Given the description of an element on the screen output the (x, y) to click on. 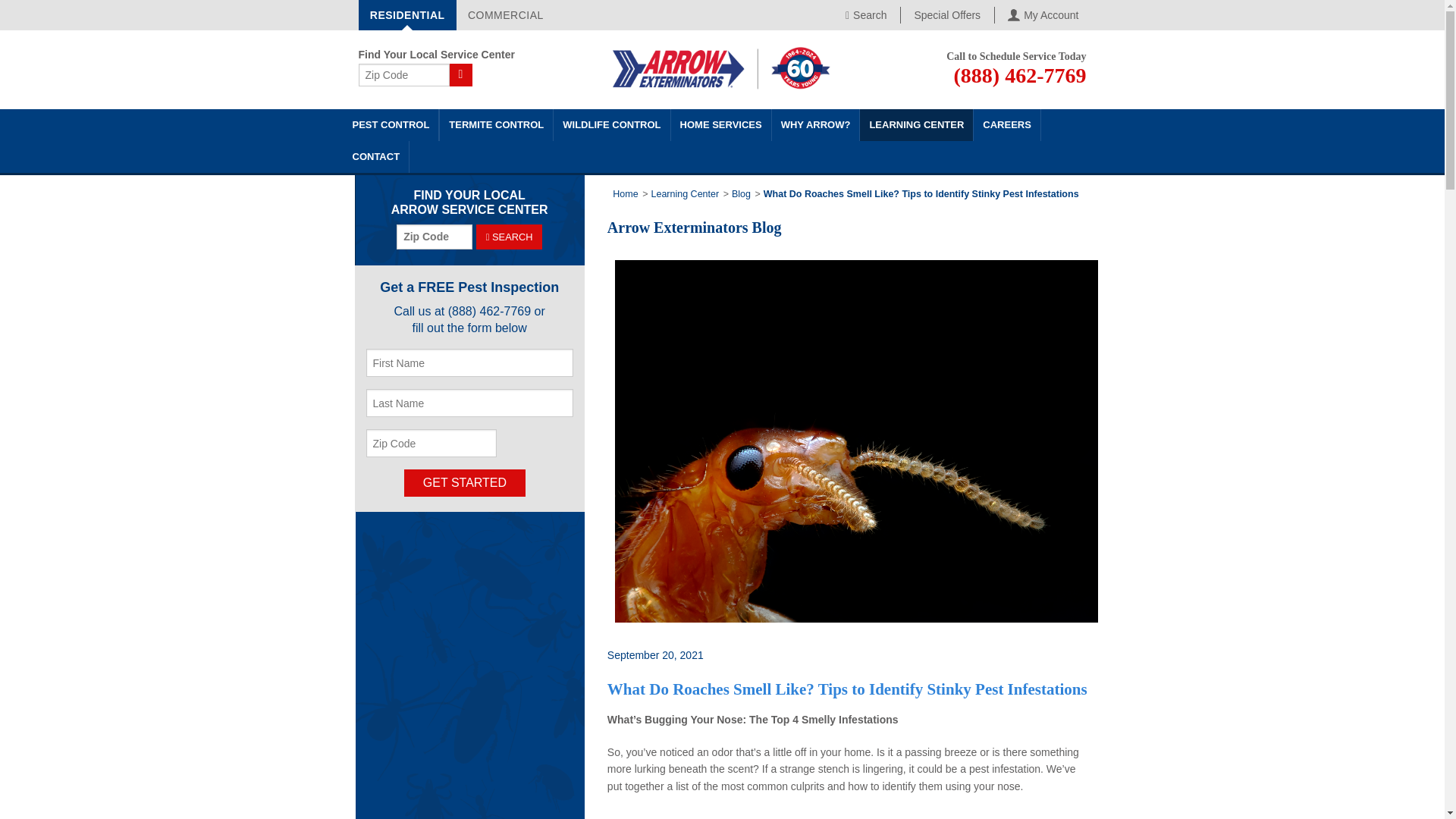
My Account (1043, 14)
Search (865, 14)
PEST CONTROL (390, 124)
COMMERCIAL (505, 15)
Special Offers (946, 14)
RESIDENTIAL (406, 15)
